Given the description of an element on the screen output the (x, y) to click on. 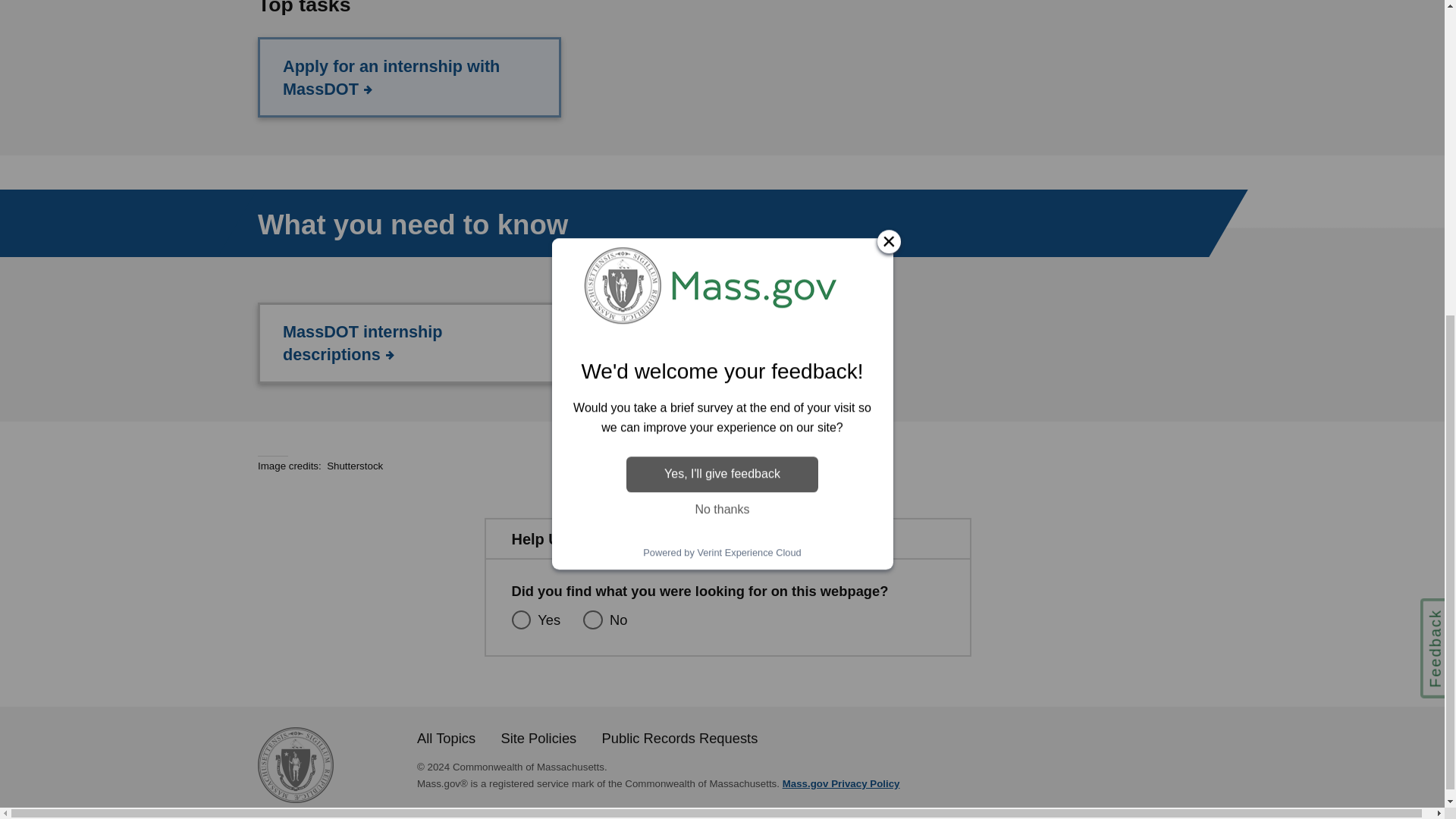
Mass.gov home page (295, 797)
